Given the description of an element on the screen output the (x, y) to click on. 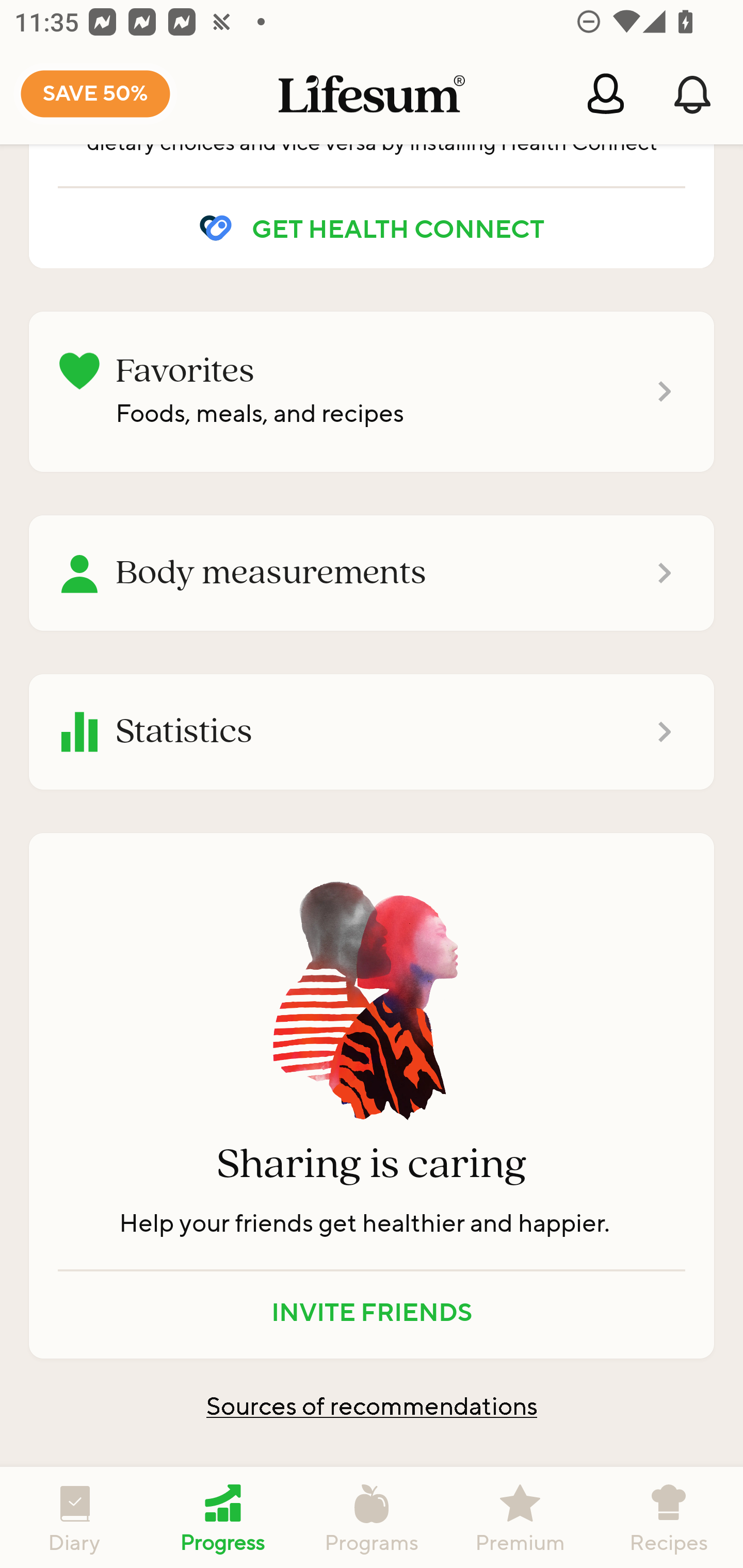
GET HEALTH CONNECT (371, 228)
Favorites Foods, meals, and recipes (371, 391)
Body measurements (371, 572)
Statistics (371, 732)
INVITE FRIENDS (371, 1310)
Sources of recommendations (371, 1405)
Diary (74, 1517)
Programs (371, 1517)
Premium (519, 1517)
Recipes (668, 1517)
